Given the description of an element on the screen output the (x, y) to click on. 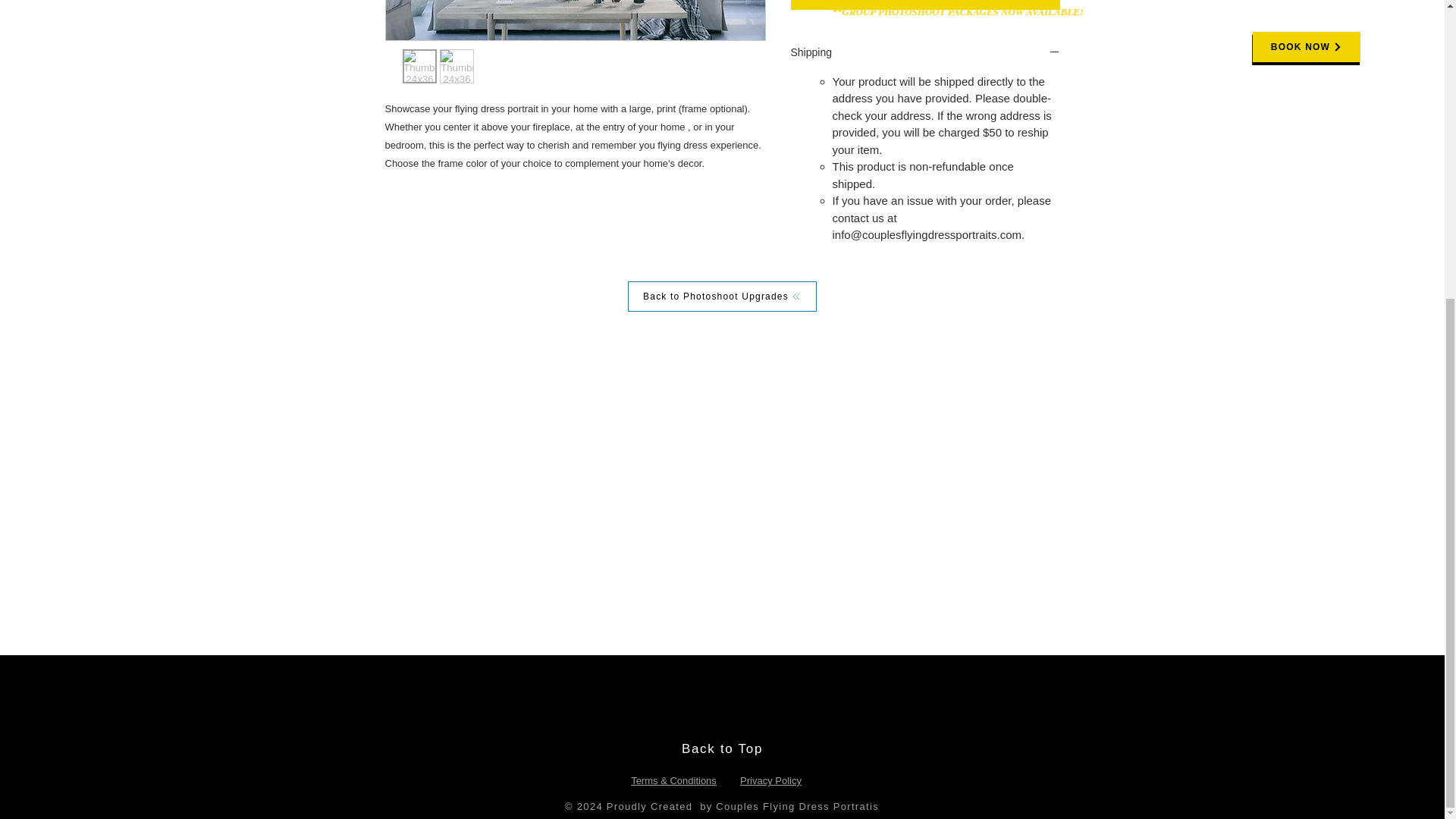
Shipping (924, 52)
Back to Photoshoot Upgrades (721, 296)
Back to Top (721, 748)
Add to Cart (924, 4)
Privacy Policy (770, 780)
